Given the description of an element on the screen output the (x, y) to click on. 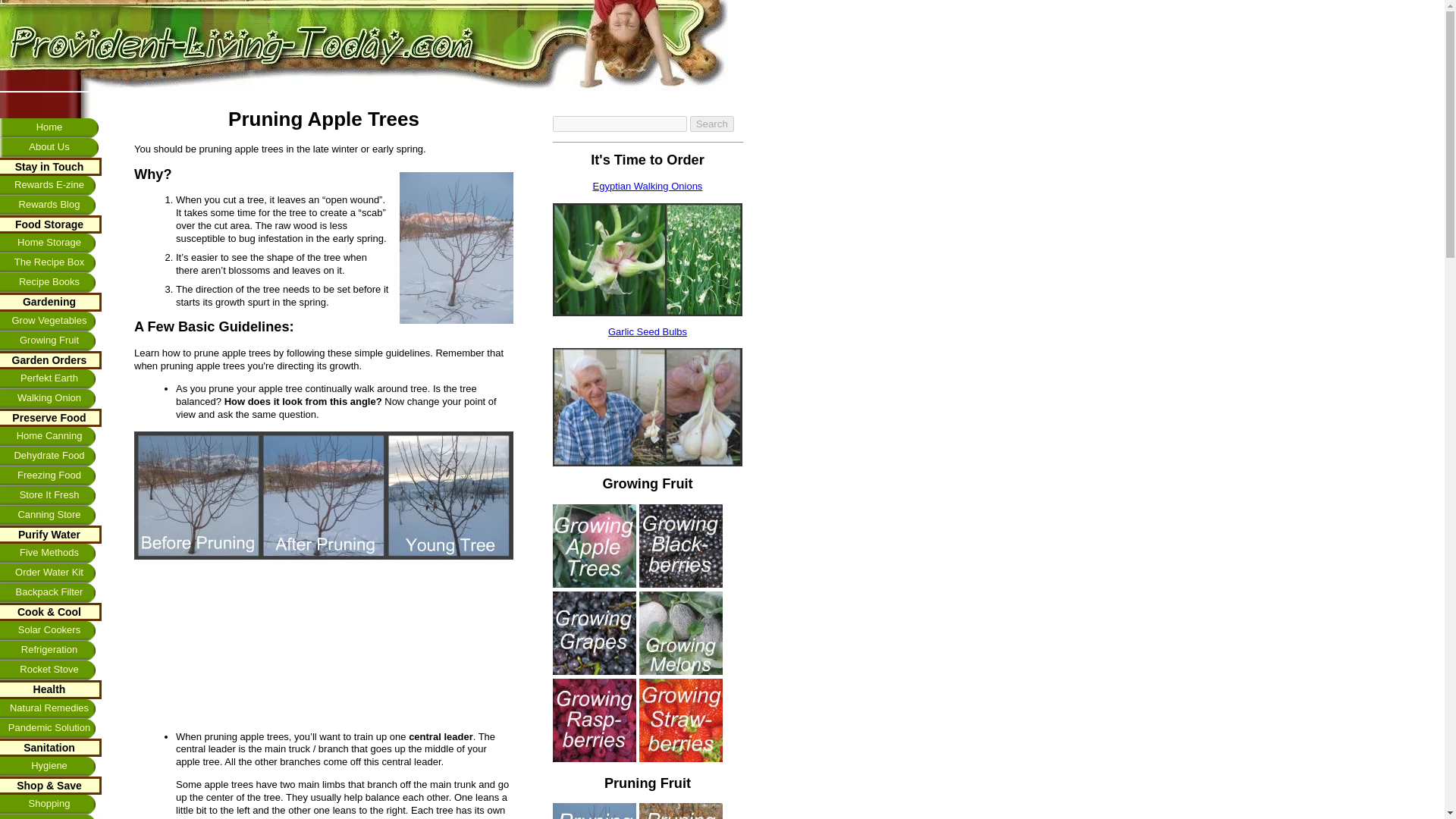
About Us (49, 148)
Grow Vegetables (50, 321)
Dehydrate Food (50, 456)
Growing Grapes (594, 632)
Store It Fresh (50, 496)
Egyptian Walking Onion (647, 259)
Garlic Bulbs (647, 407)
Shopping (50, 804)
Advertisement (209, 645)
Backpack Filter (50, 592)
Rocket Stove (50, 670)
Hygiene (50, 766)
Search (711, 123)
Five Methods (50, 553)
Pandemic Solution (50, 728)
